Given the description of an element on the screen output the (x, y) to click on. 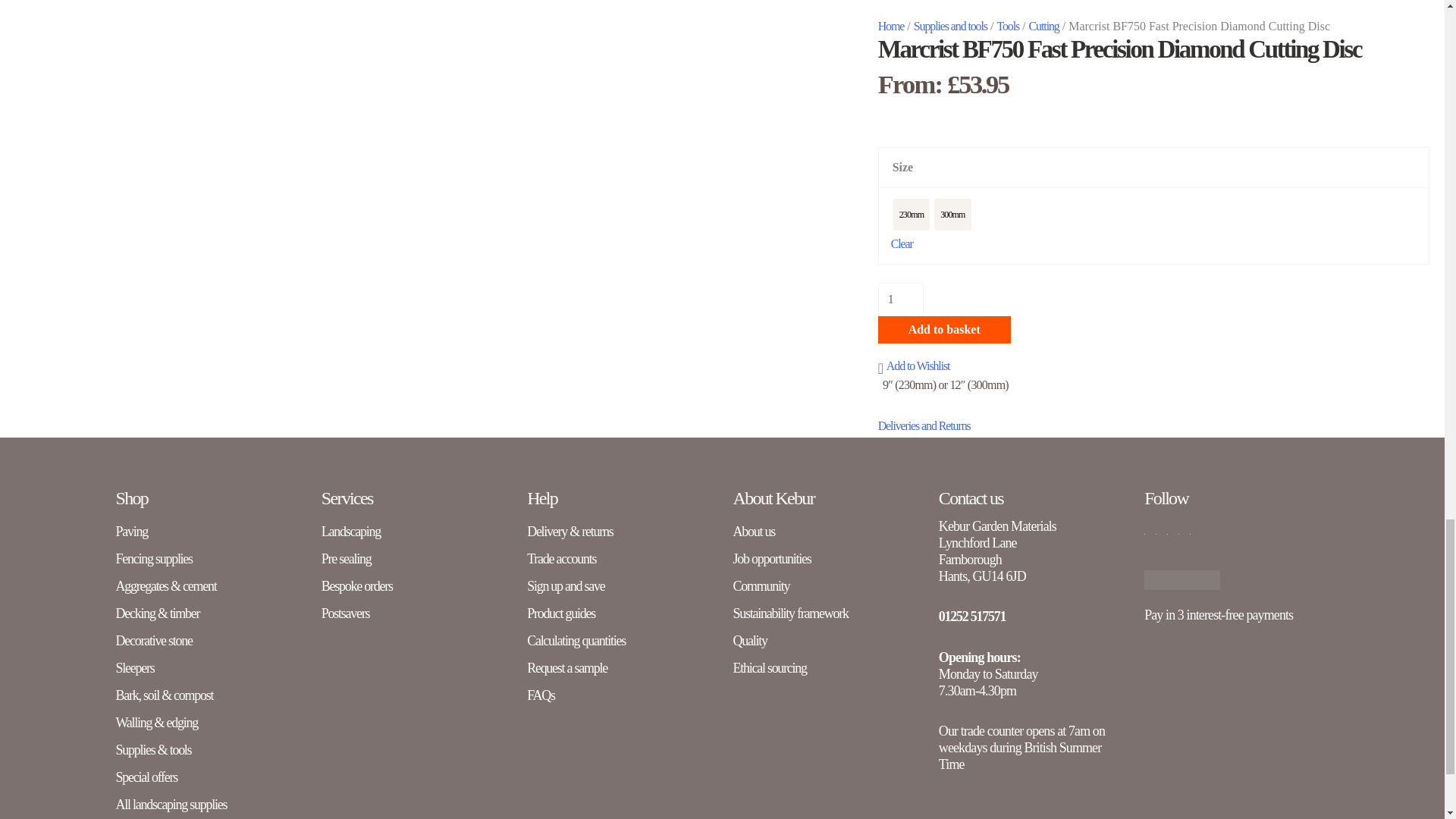
1 (900, 299)
300mm (951, 214)
230mm (910, 214)
